Given the description of an element on the screen output the (x, y) to click on. 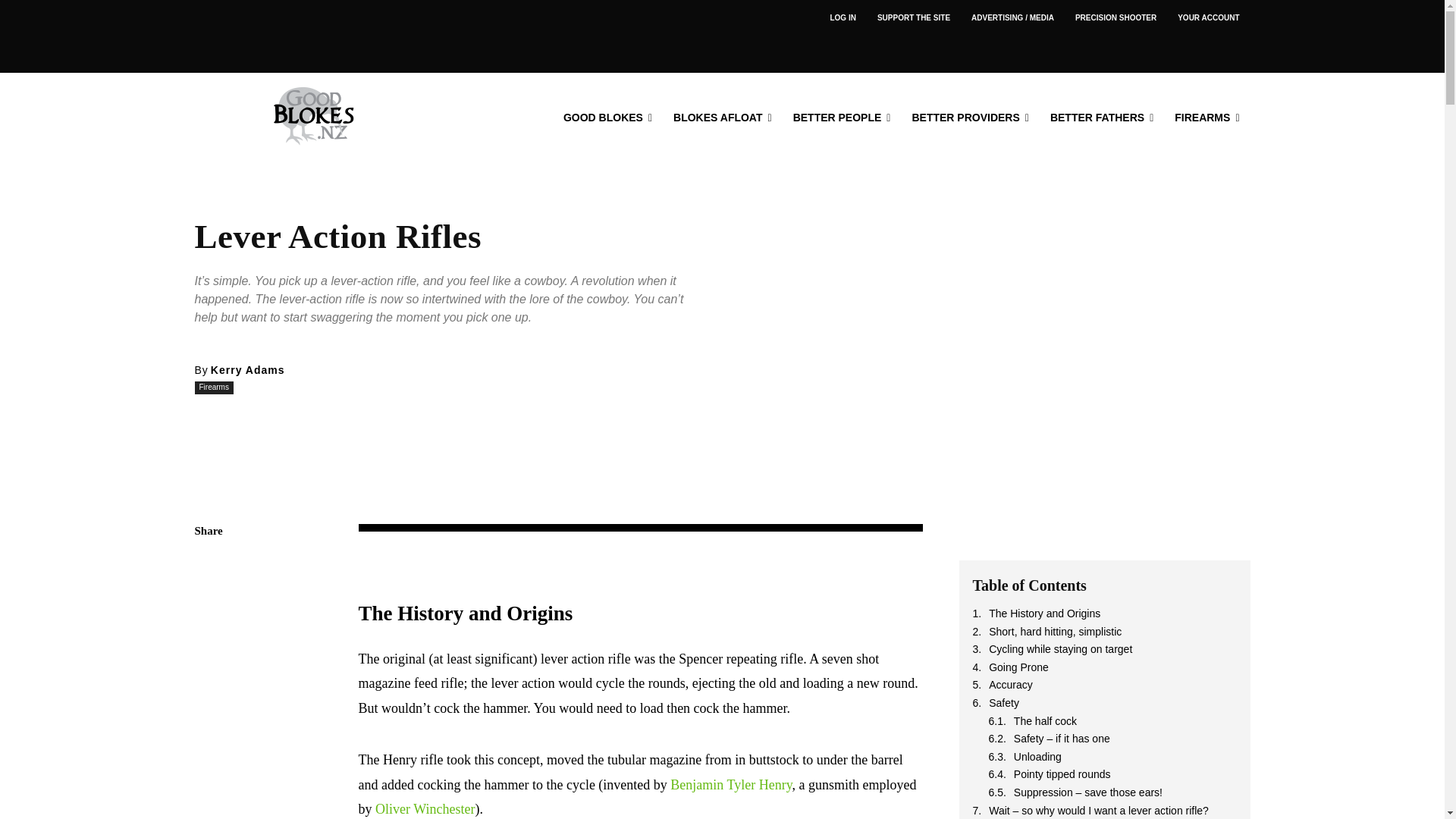
SUPPORT THE SITE (913, 18)
GOOD BLOKES (607, 117)
Modern Marksmanship Mechanics (1115, 18)
YOUR ACCOUNT (1208, 18)
LOG IN (842, 18)
PRECISION SHOOTER (1115, 18)
